Given the description of an element on the screen output the (x, y) to click on. 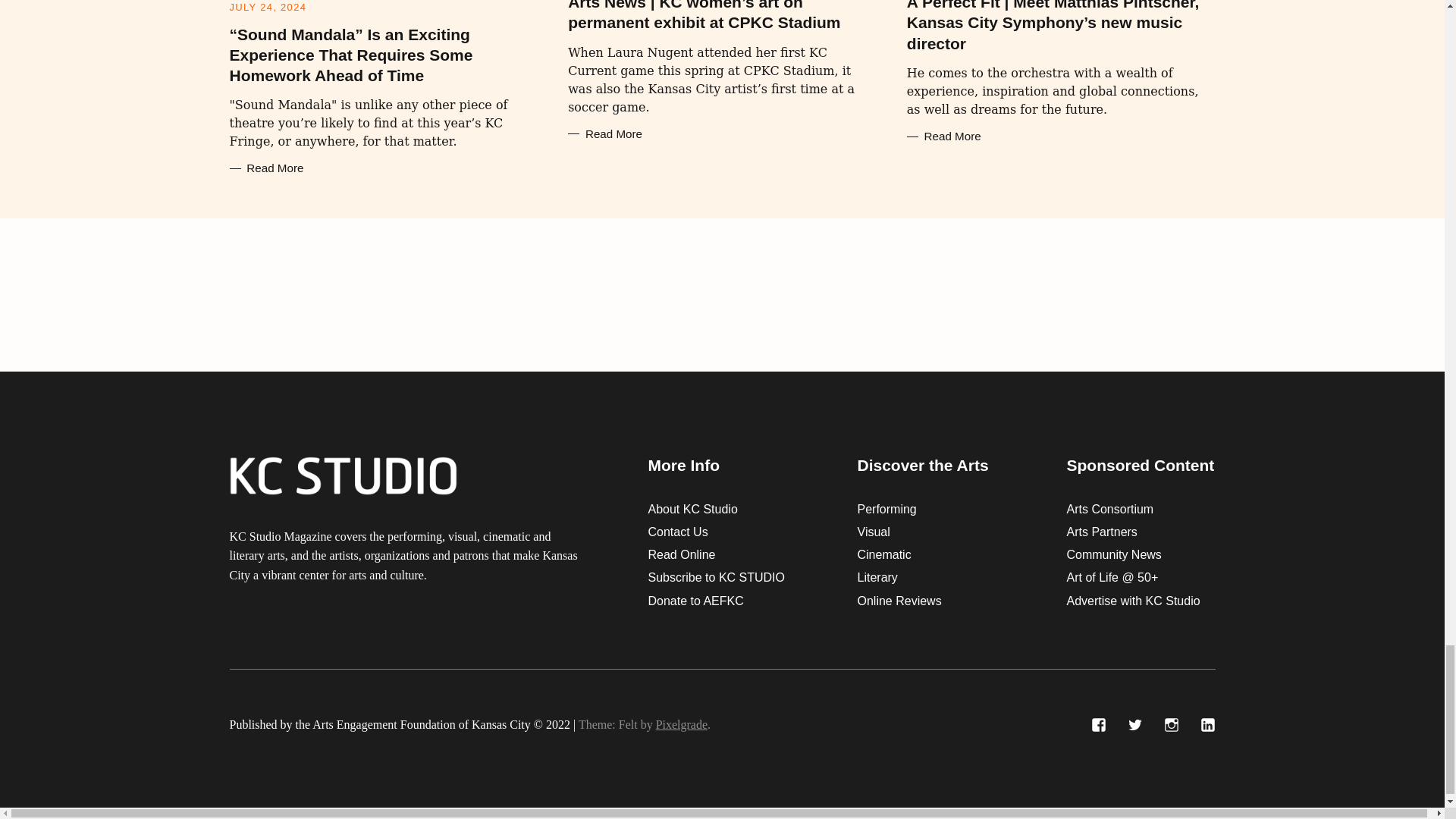
The Pixelgrade Website (681, 724)
